Given the description of an element on the screen output the (x, y) to click on. 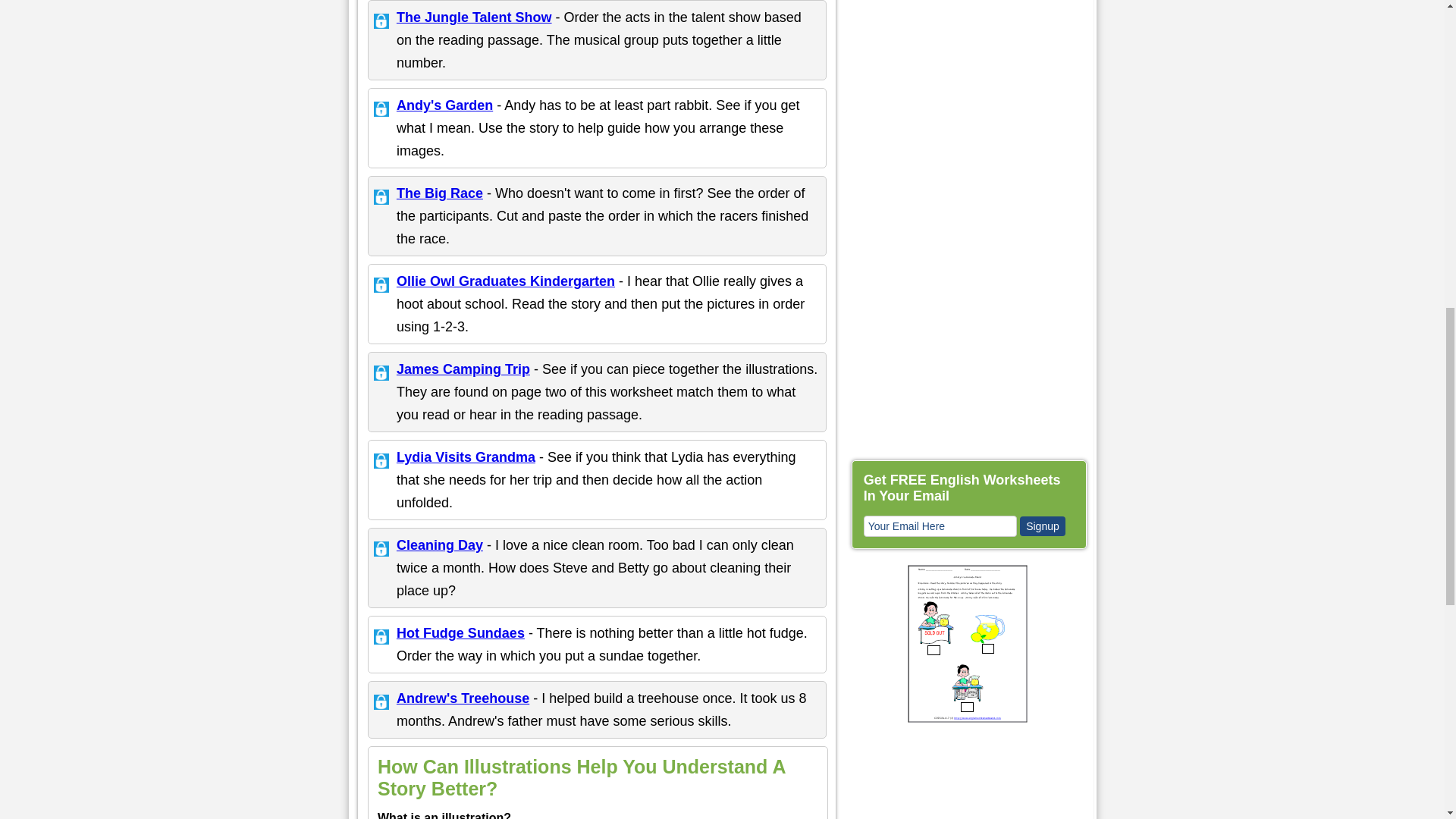
Cleaning Day (439, 544)
The Big Race (439, 192)
James Camping Trip (462, 368)
The Jungle Talent Show (473, 17)
Andrew's Treehouse (462, 698)
Signup (1042, 526)
Your Email Here (939, 526)
Signup (1042, 526)
Hot Fudge Sundaes (460, 632)
Lydia Visits Grandma (465, 457)
Ollie Owl Graduates Kindergarten (505, 281)
Andy's Garden (444, 105)
